Given the description of an element on the screen output the (x, y) to click on. 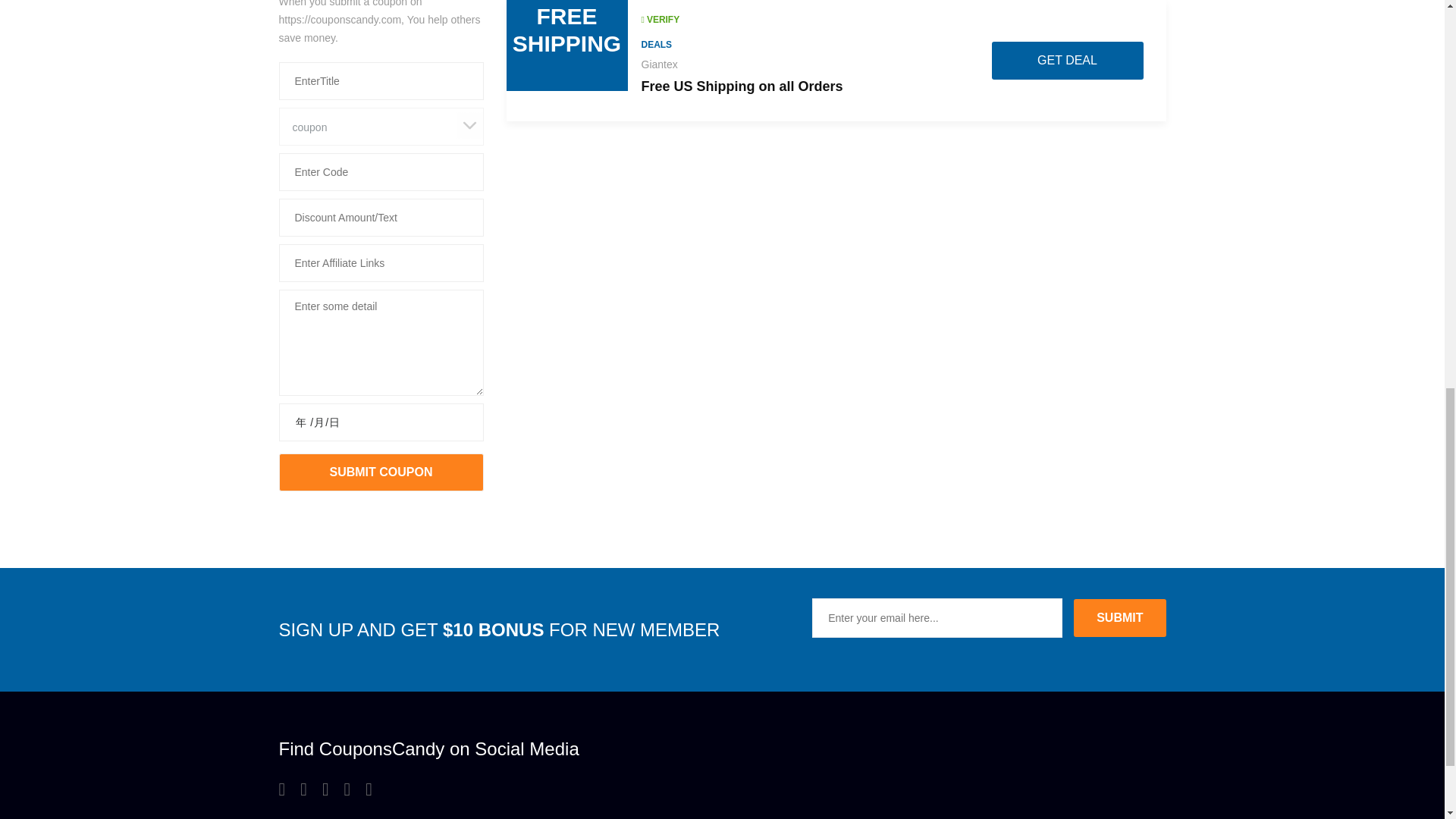
SUBMIT COUPON (381, 472)
GET DEAL (1066, 60)
SUBMIT COUPON (381, 472)
Giantex (660, 64)
Submit (1120, 617)
Submit (1120, 617)
